Given the description of an element on the screen output the (x, y) to click on. 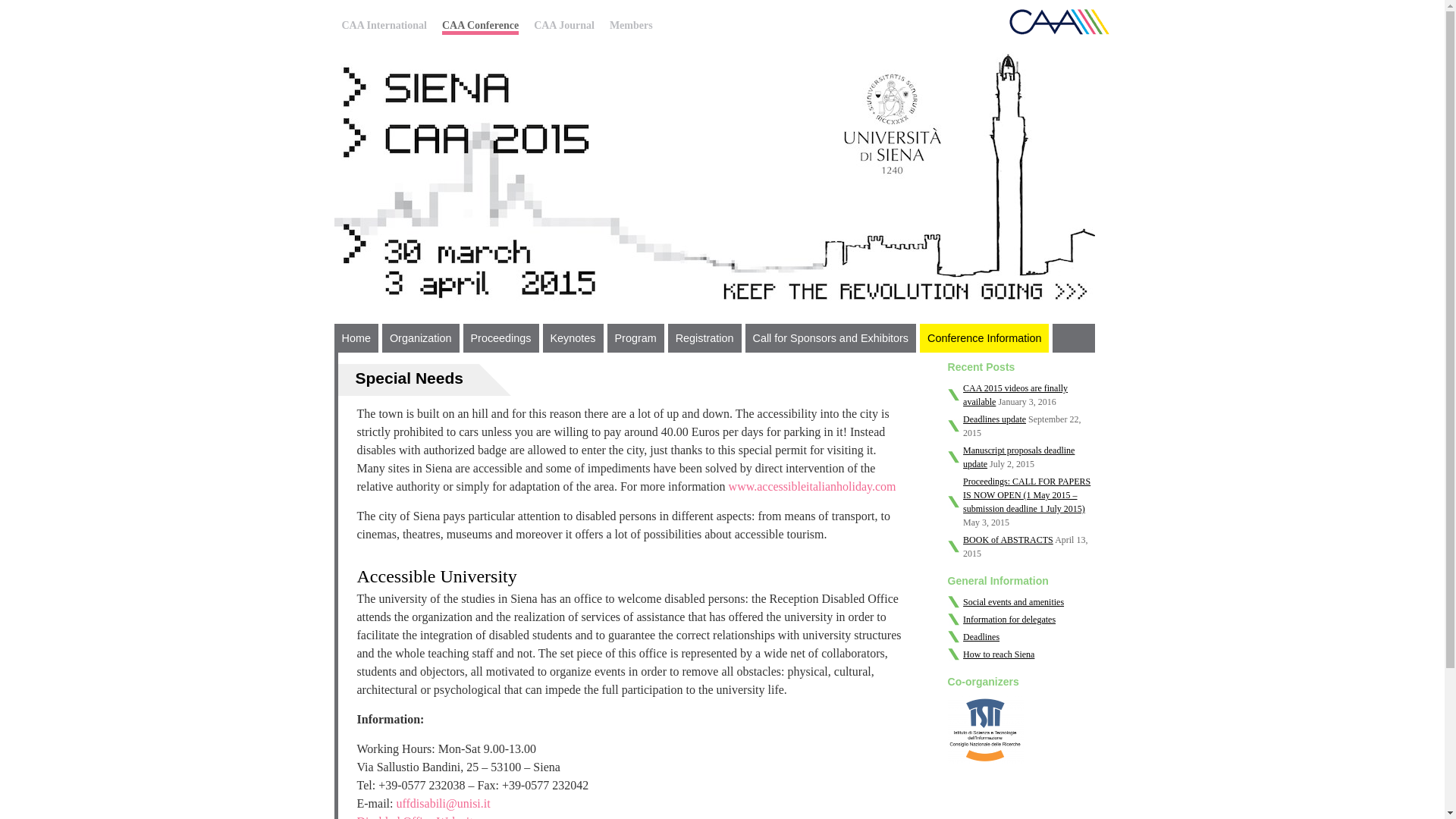
Proceedings (500, 337)
CAA International (383, 25)
Home (355, 337)
Disabled Office Web site (416, 816)
www.accessibleitalianholiday.com (812, 486)
Organization (420, 337)
CAA Conference (480, 27)
Program (635, 337)
CAA Journal (564, 25)
Conference Information (984, 337)
Call for Sponsors and Exhibitors (829, 337)
Registration (704, 337)
Keynotes (573, 337)
Members (631, 25)
